Given the description of an element on the screen output the (x, y) to click on. 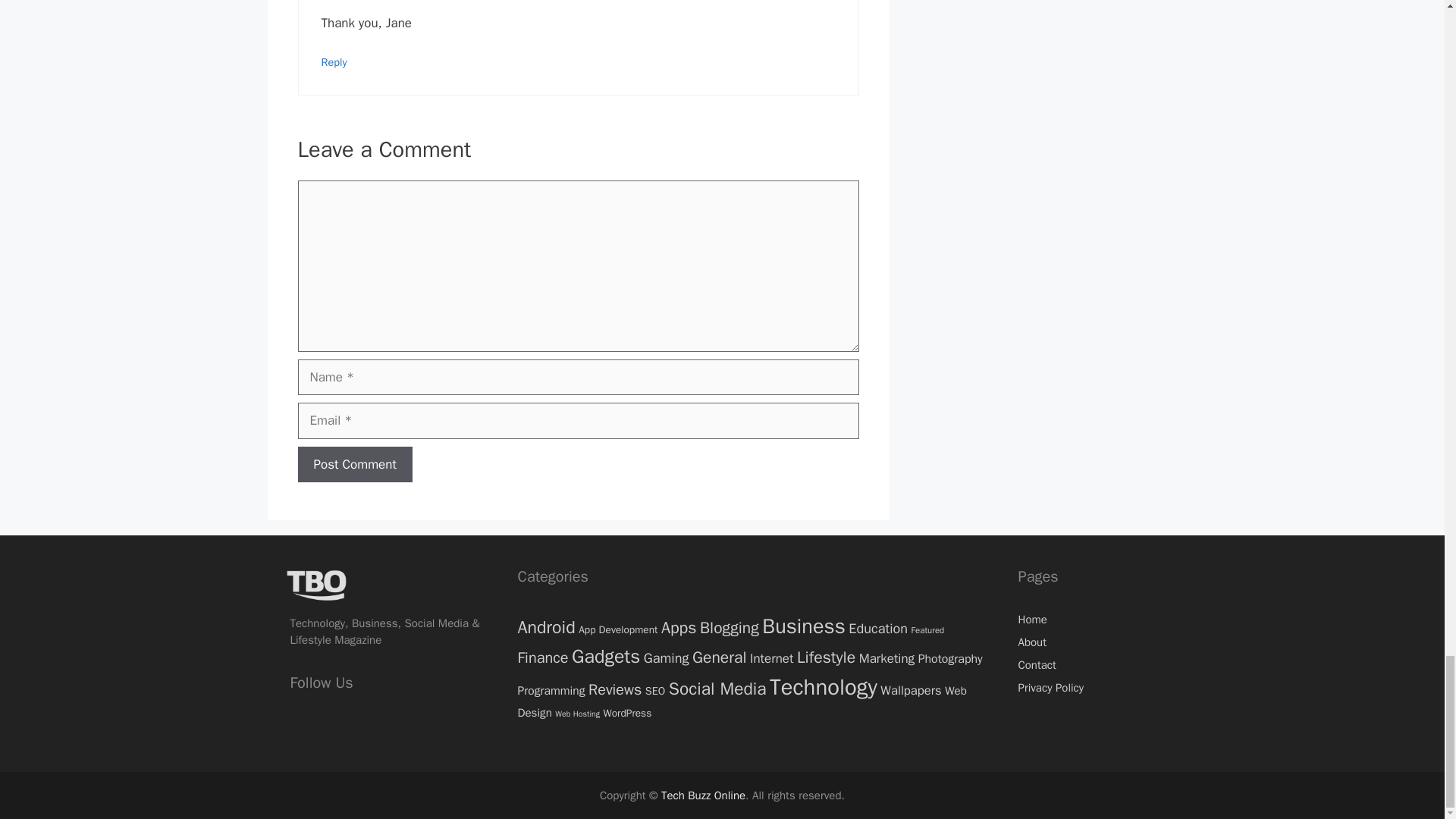
Post Comment (354, 464)
Post Comment (354, 464)
Reply (334, 61)
